Given the description of an element on the screen output the (x, y) to click on. 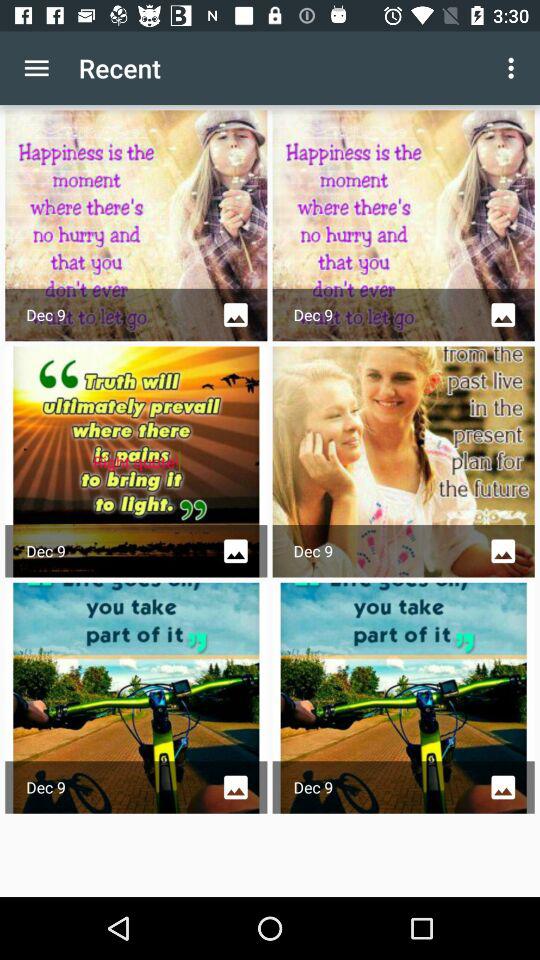
choose icon next to recent (513, 67)
